Given the description of an element on the screen output the (x, y) to click on. 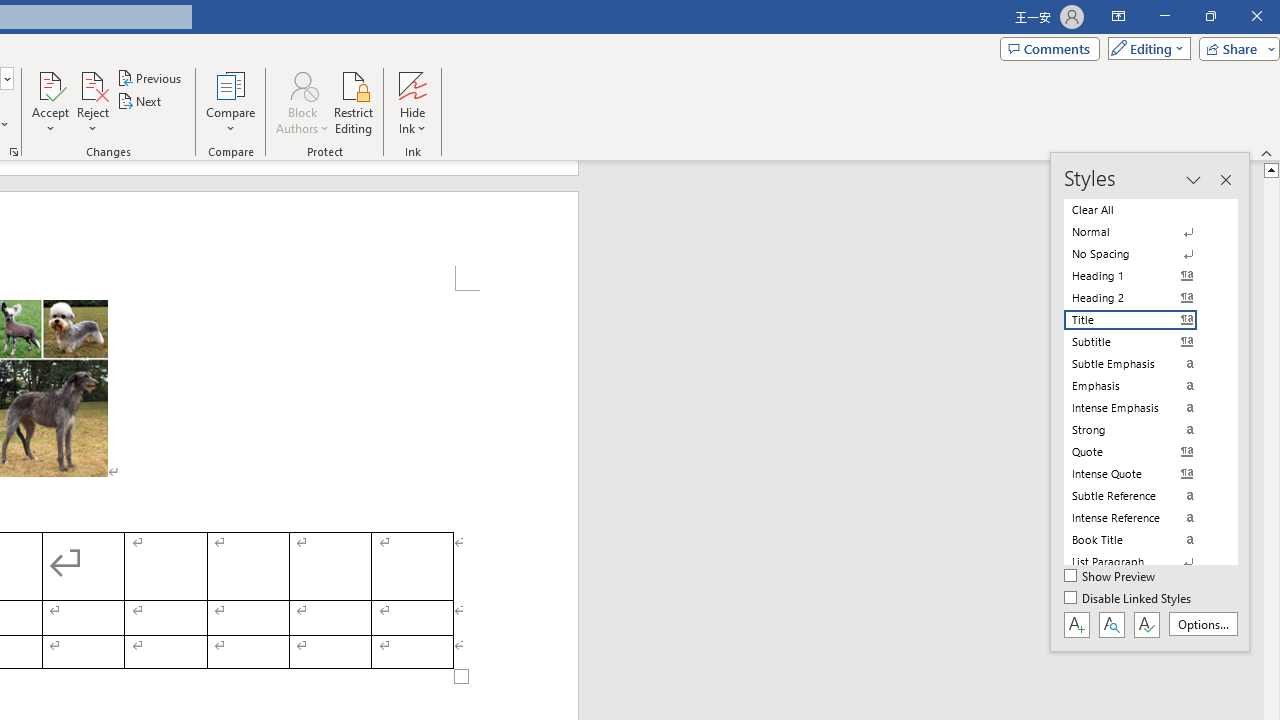
Normal (1142, 232)
Share (1235, 48)
Restore Down (1210, 16)
Heading 1 (1142, 275)
Intense Reference (1142, 517)
Change Tracking Options... (13, 151)
Compare (230, 102)
Collapse the Ribbon (1267, 152)
Ribbon Display Options (1118, 16)
Class: NetUIButton (1146, 624)
Comments (1049, 48)
Subtle Emphasis (1142, 363)
No Spacing (1142, 253)
Reject and Move to Next (92, 84)
